Given the description of an element on the screen output the (x, y) to click on. 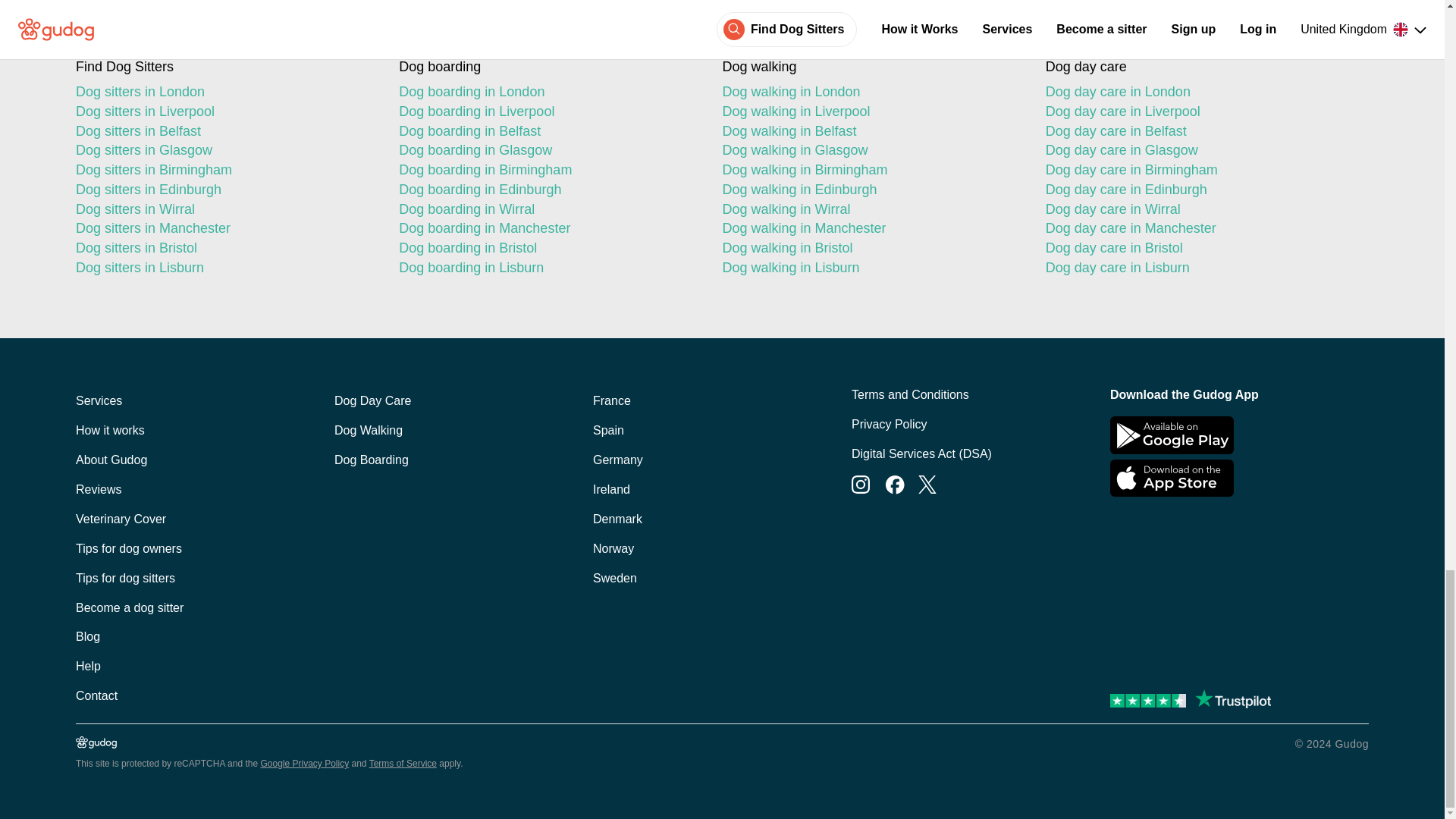
Dog boarding in Belfast (547, 131)
Dog boarding in Manchester (547, 229)
Dog sitters in Wirral (224, 209)
Dog boarding in Bristol (547, 248)
Dog sitters in Lisburn (224, 268)
Dog boarding in London (547, 92)
Dog sitters in Edinburgh (224, 189)
Dog boarding in Birmingham (547, 170)
Dog sitters in Birmingham (224, 170)
Dog sitters in Bristol (224, 248)
Dog sitters in Manchester (224, 229)
Dog sitters in Birmingham (224, 170)
Dog sitters in Glasgow (224, 150)
Dog sitters in Glasgow (224, 150)
Dog sitters in Wirral (224, 209)
